Given the description of an element on the screen output the (x, y) to click on. 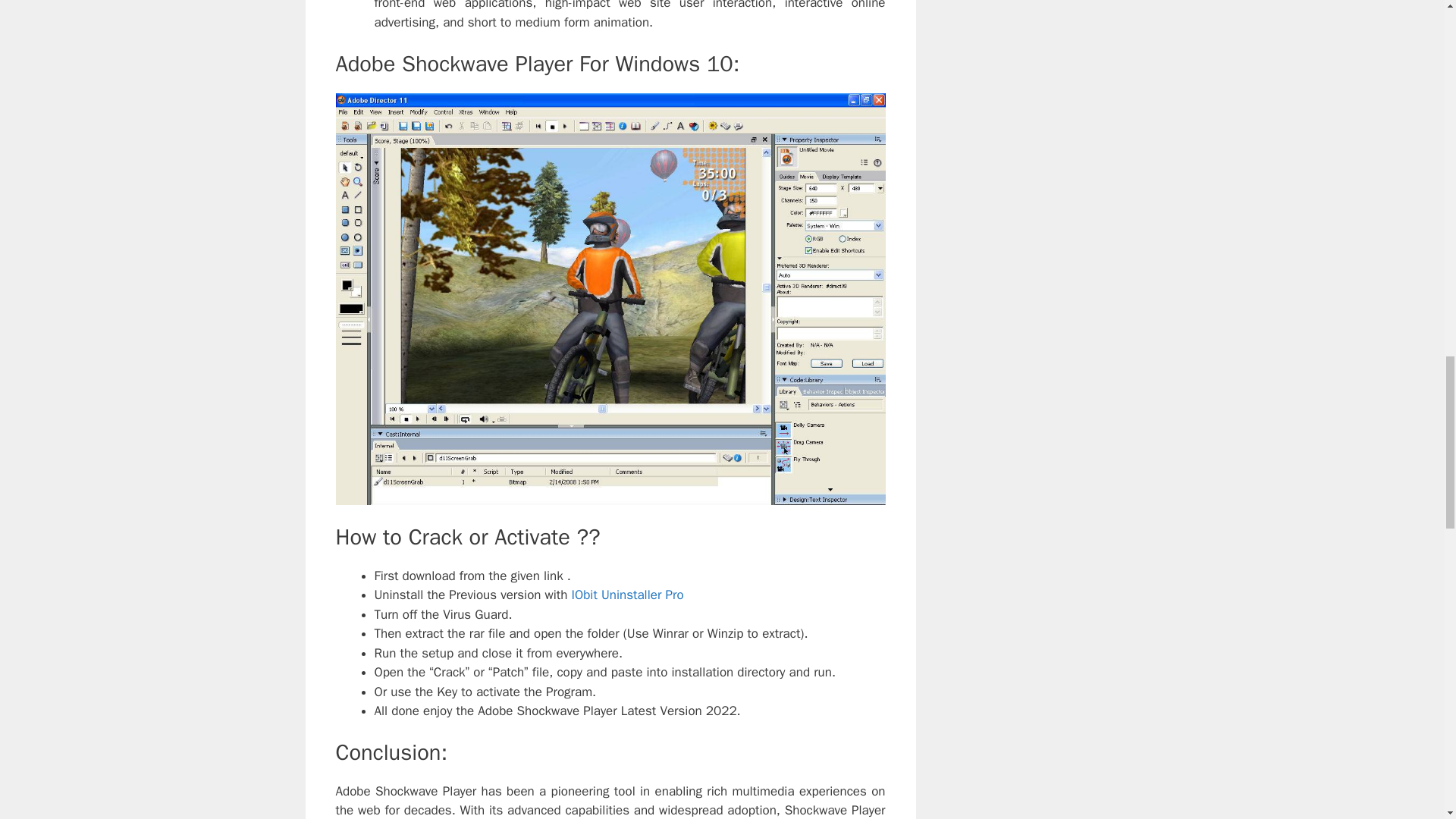
 IObit Uninstaller Pro (624, 594)
